Given the description of an element on the screen output the (x, y) to click on. 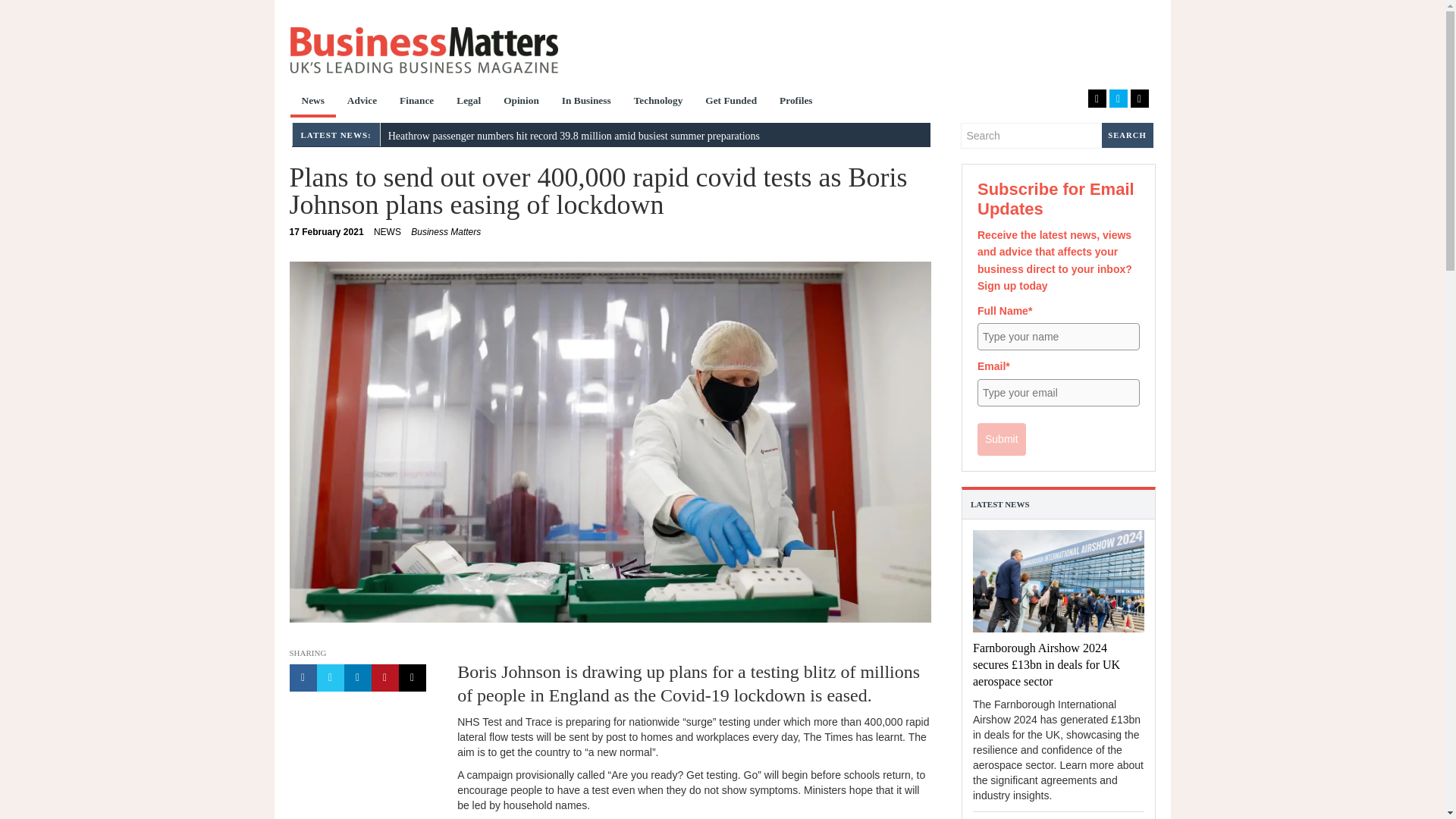
Opinion (521, 101)
Business Matters (423, 50)
Finance (416, 101)
NEWS (387, 231)
Advice (362, 101)
Get Funded (731, 101)
News (311, 101)
Legal (468, 101)
17 February 2021 (326, 231)
Technology (658, 101)
Profiles (796, 101)
In Business (586, 101)
Business Matters (445, 231)
